Given the description of an element on the screen output the (x, y) to click on. 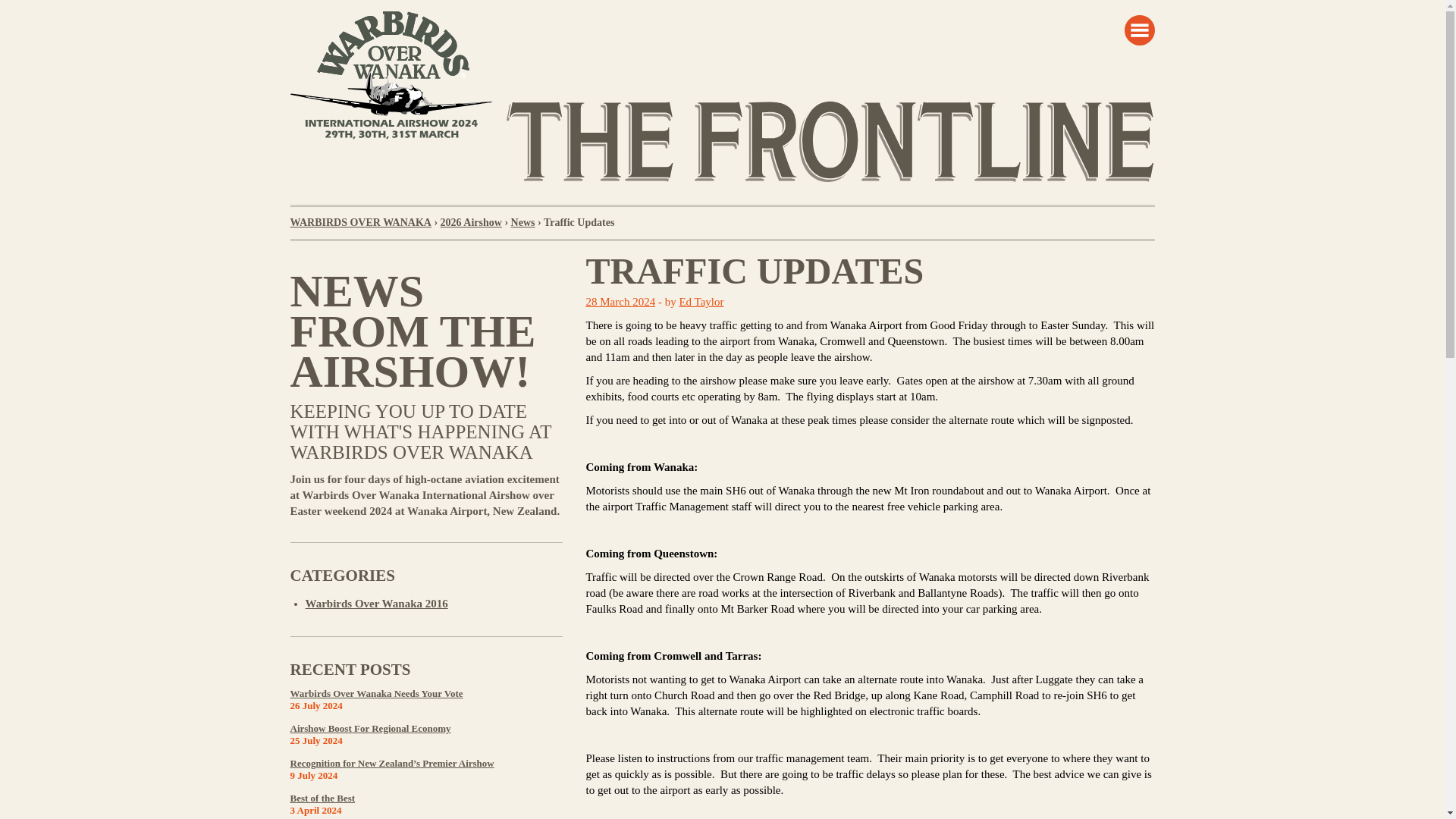
Open main navigation (1139, 30)
Airshow Boost For Regional Economy (369, 727)
Best of the Best (322, 797)
Warbirds Over Wanaka Needs Your Vote (376, 693)
790 (830, 140)
Toggle navigation (1139, 30)
Warbirds Over Wanaka 2016 (375, 603)
